Given the description of an element on the screen output the (x, y) to click on. 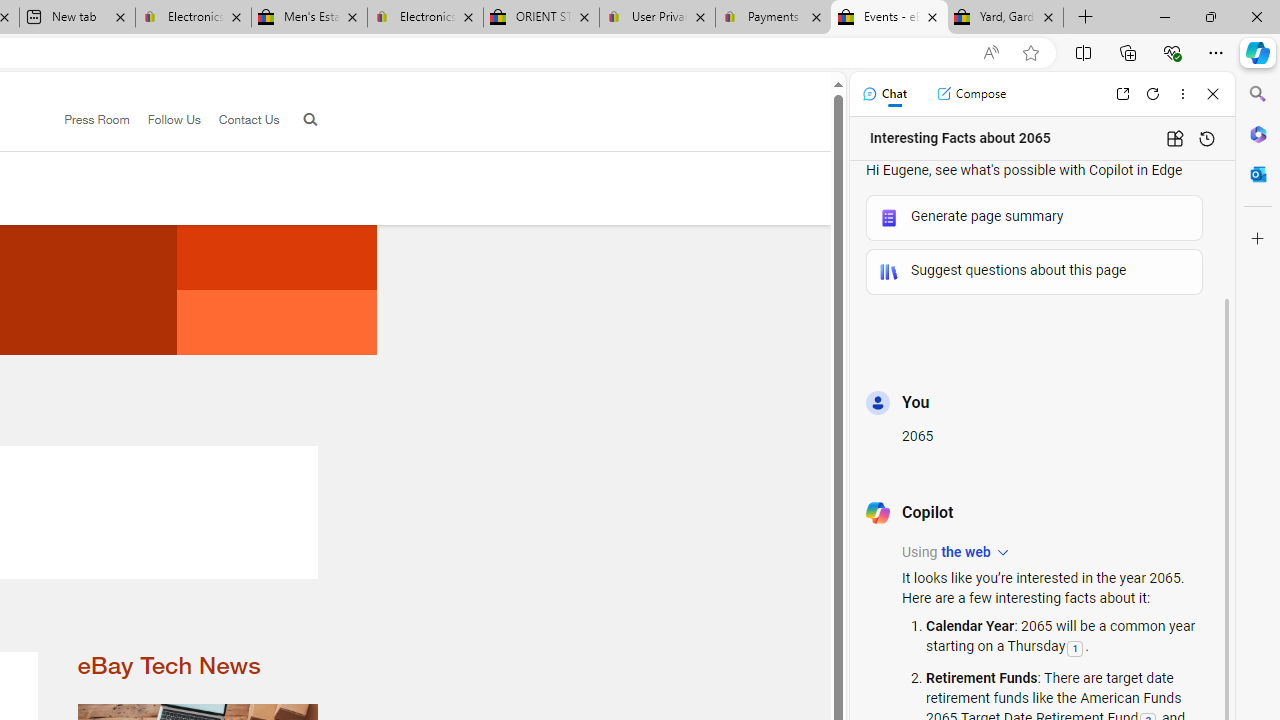
Events - eBay Inc. (889, 17)
User Privacy Notice | eBay (657, 17)
Follow Us (164, 120)
Contact Us (248, 119)
Payments Terms of Use | eBay.com (772, 17)
Press Room (88, 120)
Yard, Garden & Outdoor Living (1005, 17)
